Given the description of an element on the screen output the (x, y) to click on. 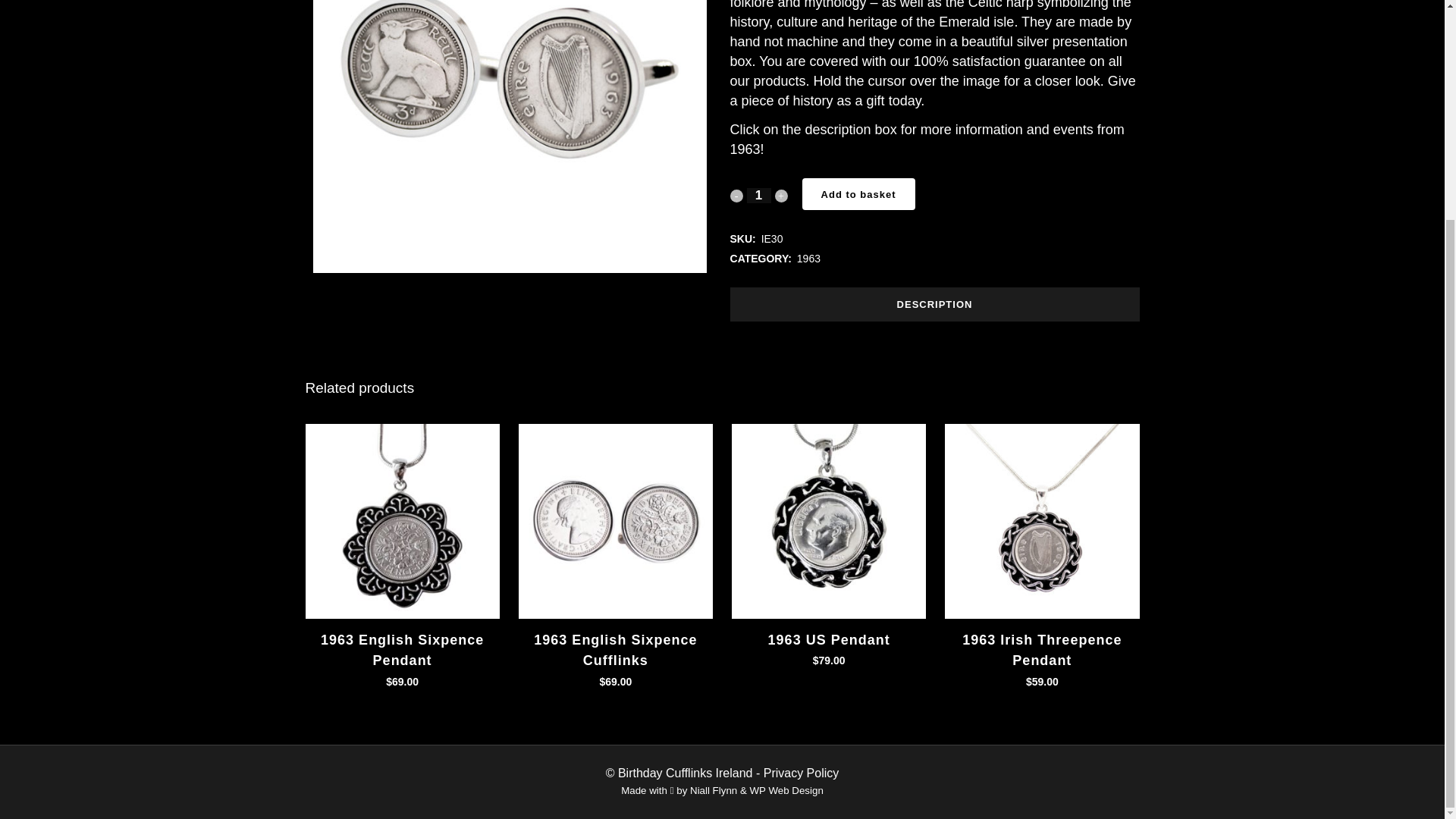
- (736, 195)
Add to basket (858, 193)
Niall Flynn (713, 790)
Privacy Policy (801, 772)
Qty (758, 195)
1963 IRE 3d (509, 136)
1963 (808, 258)
1 (758, 195)
WP Web Design (786, 790)
